Given the description of an element on the screen output the (x, y) to click on. 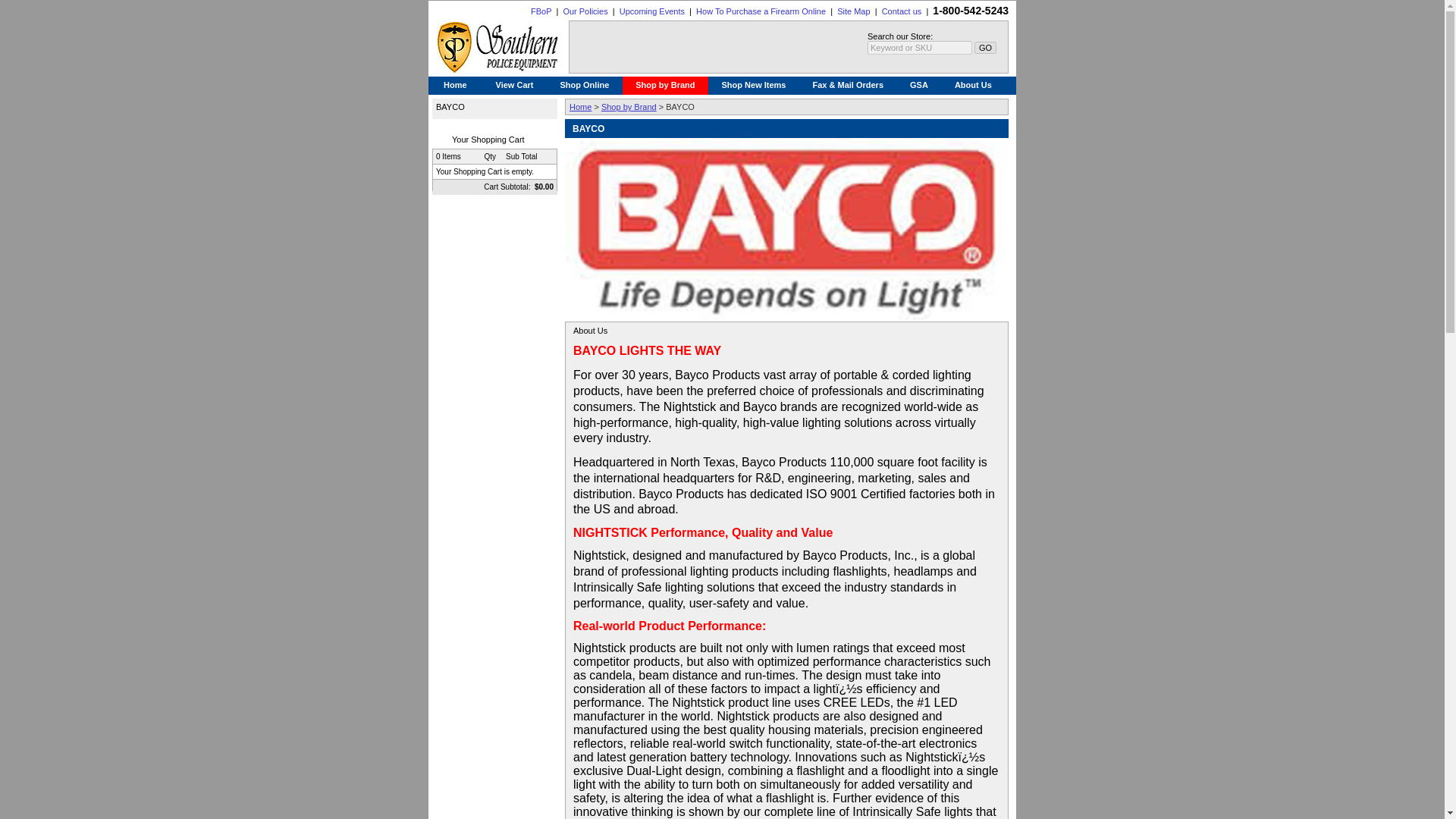
FBoP (541, 10)
GSA (919, 85)
Shop by Brand (665, 85)
GO (984, 47)
Upcoming Events (652, 10)
Keyword or SKU (919, 47)
How To Purchase a Firearm Online (760, 10)
Home (580, 106)
GO (984, 47)
View Cart (515, 85)
Contact us (901, 10)
Shop by Brand (628, 106)
Home (455, 85)
About Us (973, 85)
Site Map (853, 10)
